Given the description of an element on the screen output the (x, y) to click on. 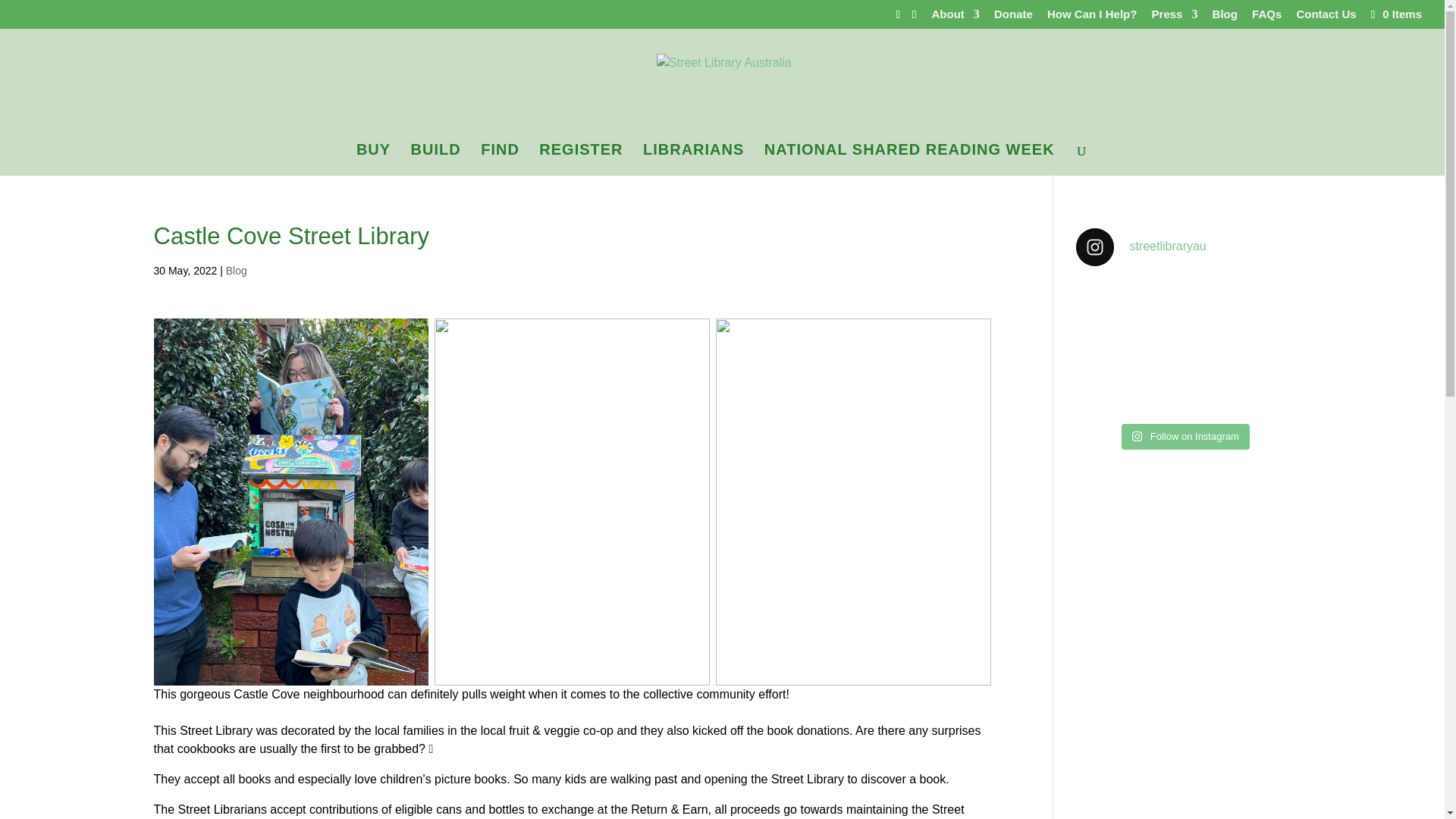
streetlibraryau (1182, 247)
Blog (1224, 17)
Donate (1013, 17)
0 Items (1395, 13)
BUILD (435, 159)
FIND (499, 159)
REGISTER (580, 159)
About (955, 17)
NATIONAL SHARED READING WEEK (909, 159)
Press (1174, 17)
